Given the description of an element on the screen output the (x, y) to click on. 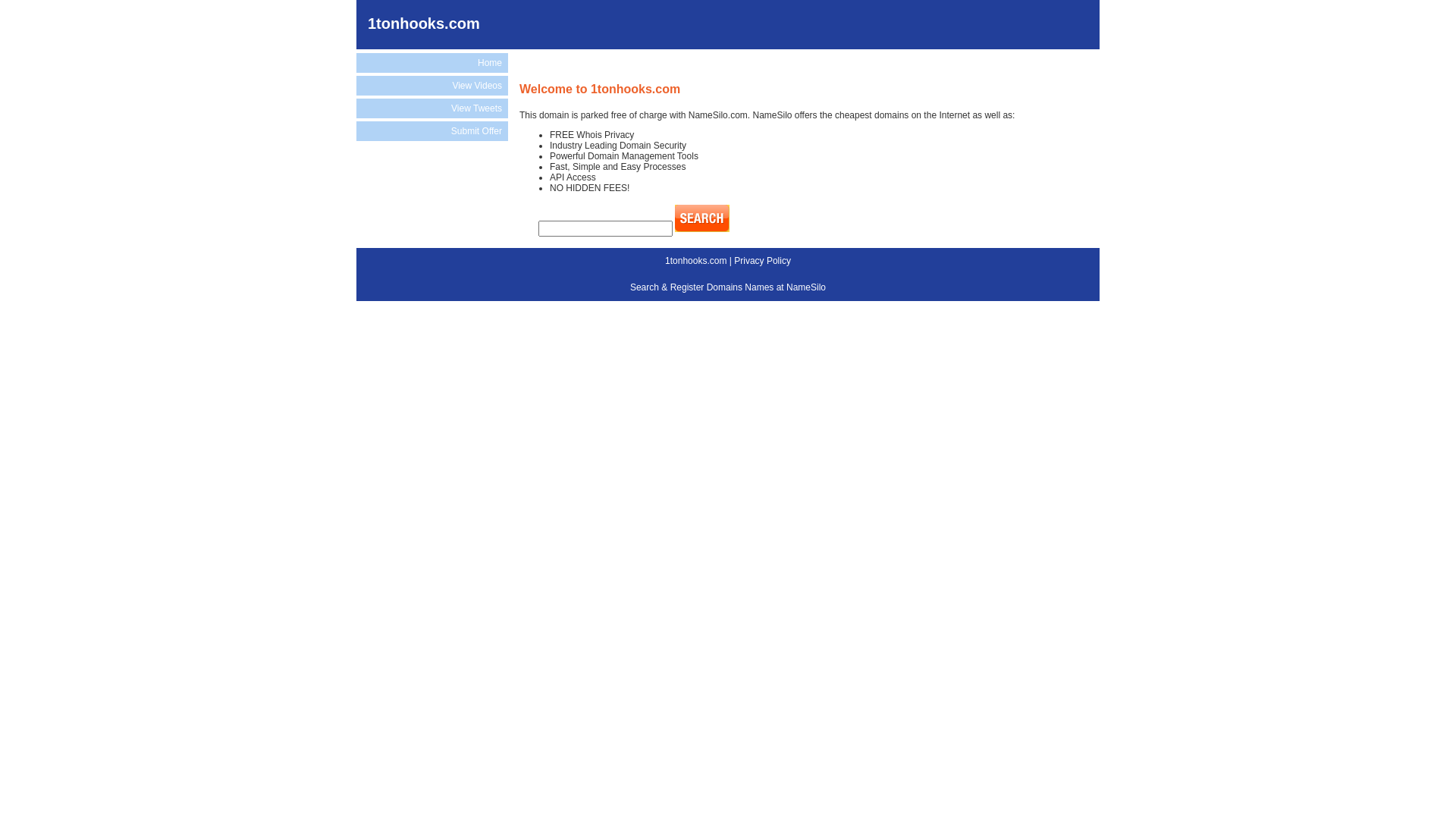
Search & Register Domains Names at NameSilo Element type: text (727, 287)
View Videos Element type: text (432, 85)
Home Element type: text (432, 62)
Submit Offer Element type: text (432, 131)
View Tweets Element type: text (432, 108)
Privacy Policy Element type: text (762, 260)
